Given the description of an element on the screen output the (x, y) to click on. 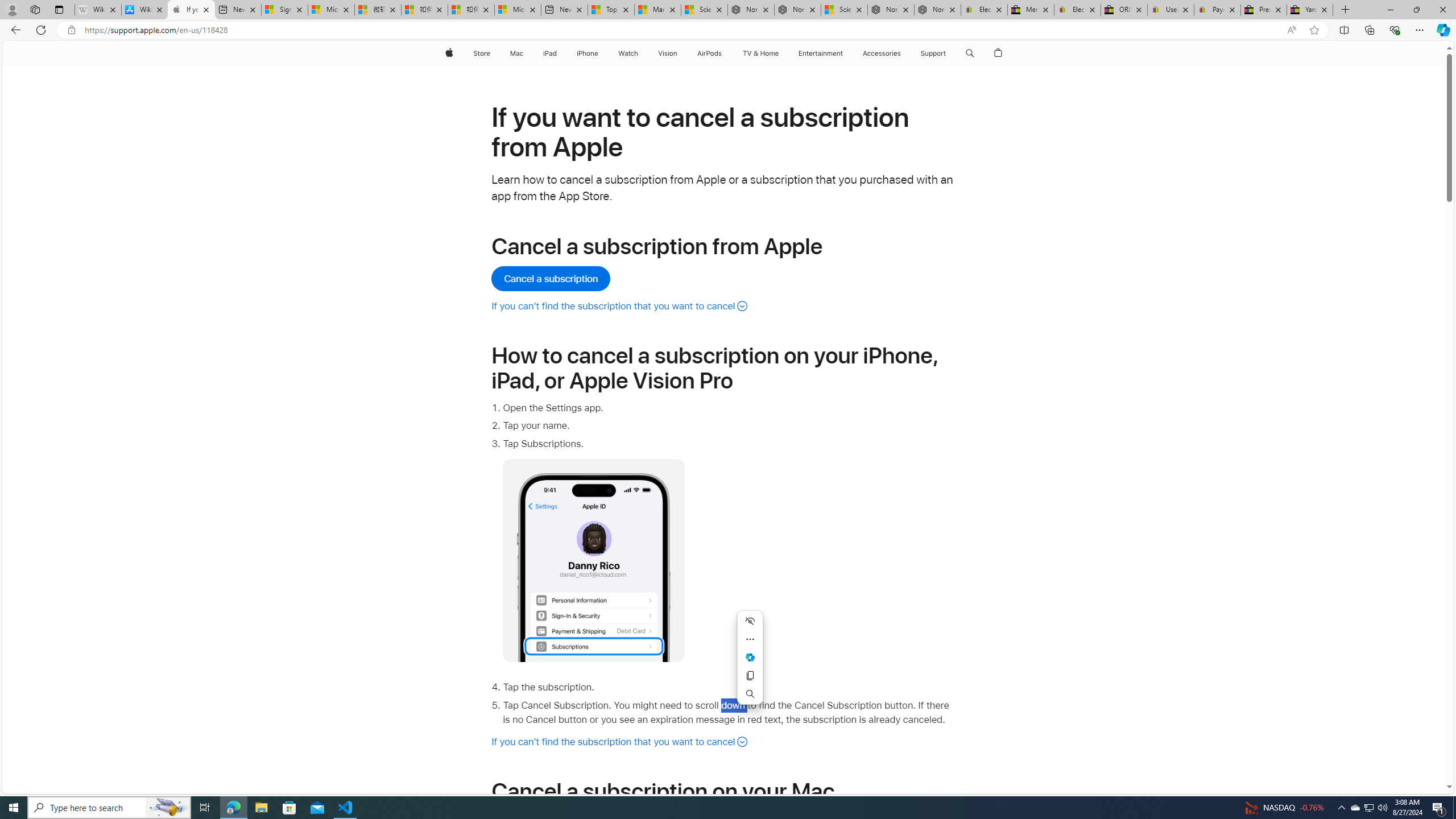
Cancel a subscription (551, 278)
Accessories (881, 53)
Personal Profile (12, 9)
TV and Home menu (780, 53)
Sign in to your Microsoft account (284, 9)
Class: globalnav-submenu-trigger-item (948, 53)
Vision menu (678, 53)
Settings and more (Alt+F) (1419, 29)
Apple (448, 53)
Tap your name. (729, 425)
Split screen (1344, 29)
